Given the description of an element on the screen output the (x, y) to click on. 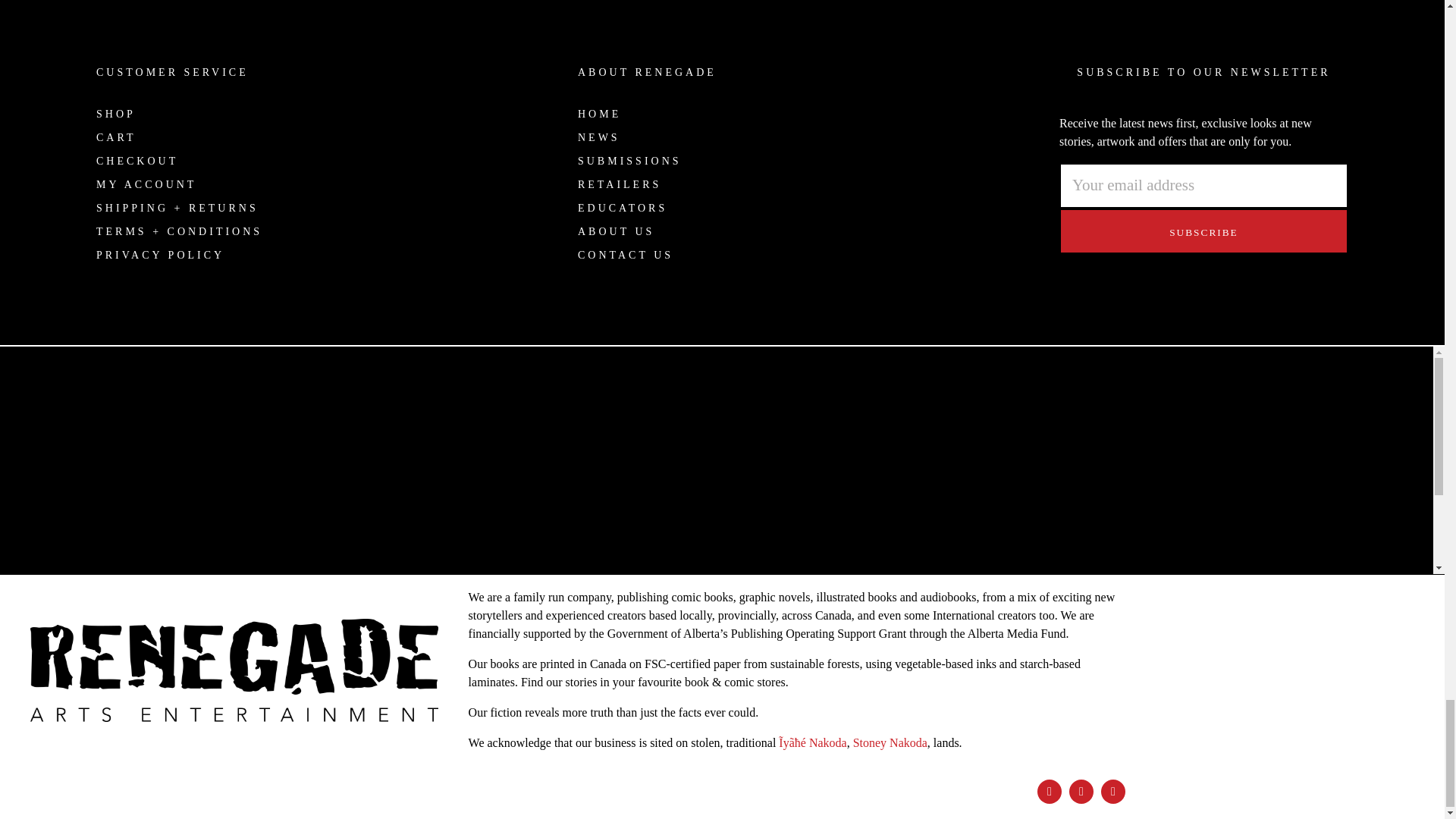
X (1112, 791)
Renegade-Wordmark-Retina (234, 670)
Subscribe (1203, 230)
Instagram (1080, 791)
Facebook (1048, 791)
